Given the description of an element on the screen output the (x, y) to click on. 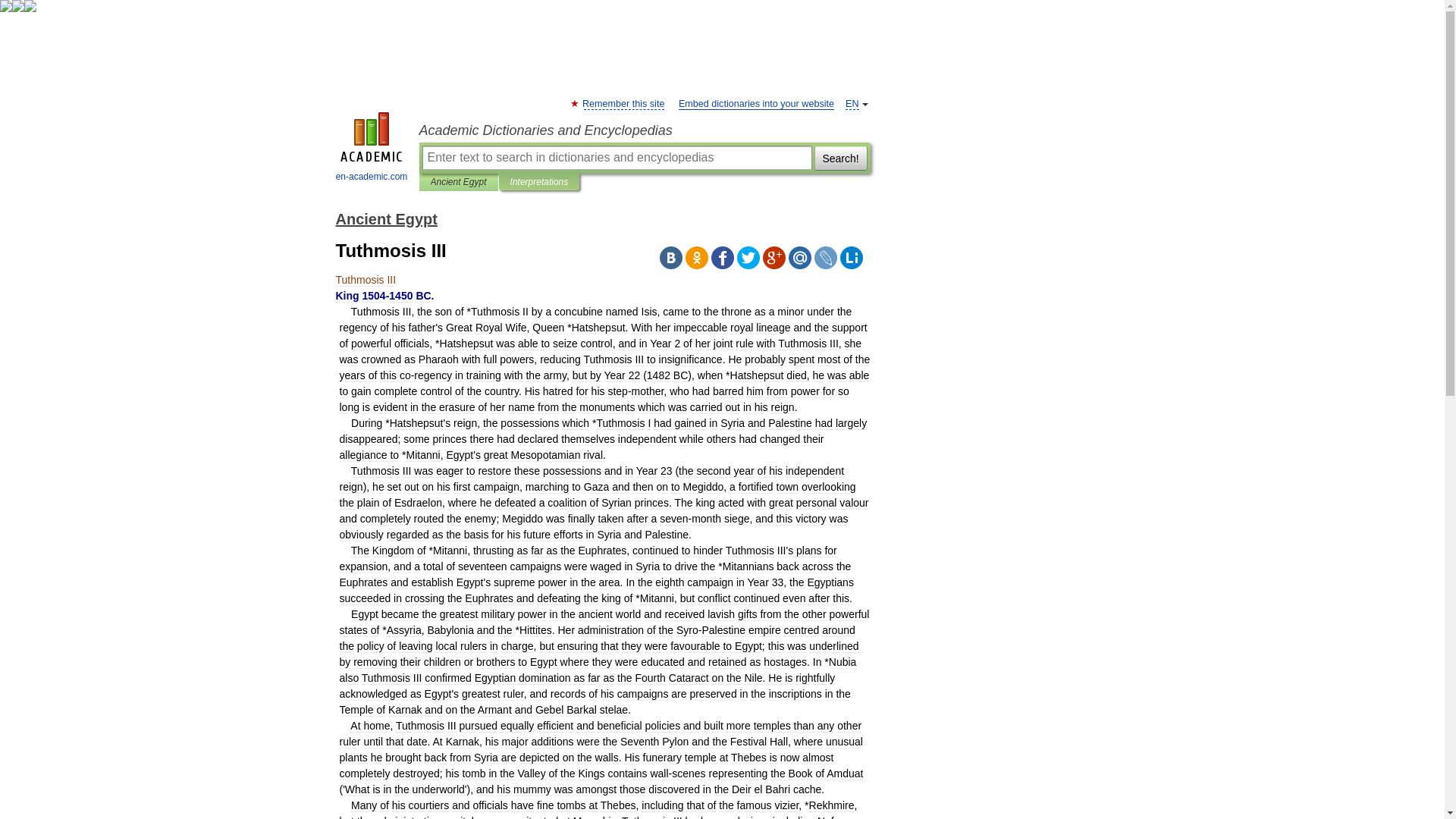
Academic Dictionaries and Encyclopedias (644, 130)
Ancient Egypt (385, 218)
en-academic.com (371, 148)
Enter text to search in dictionaries and encyclopedias (616, 157)
Search! (840, 157)
Embed dictionaries into your website (756, 103)
EN (852, 103)
Interpretations (540, 181)
Ancient Egypt (458, 181)
Remember this site (623, 103)
